Given the description of an element on the screen output the (x, y) to click on. 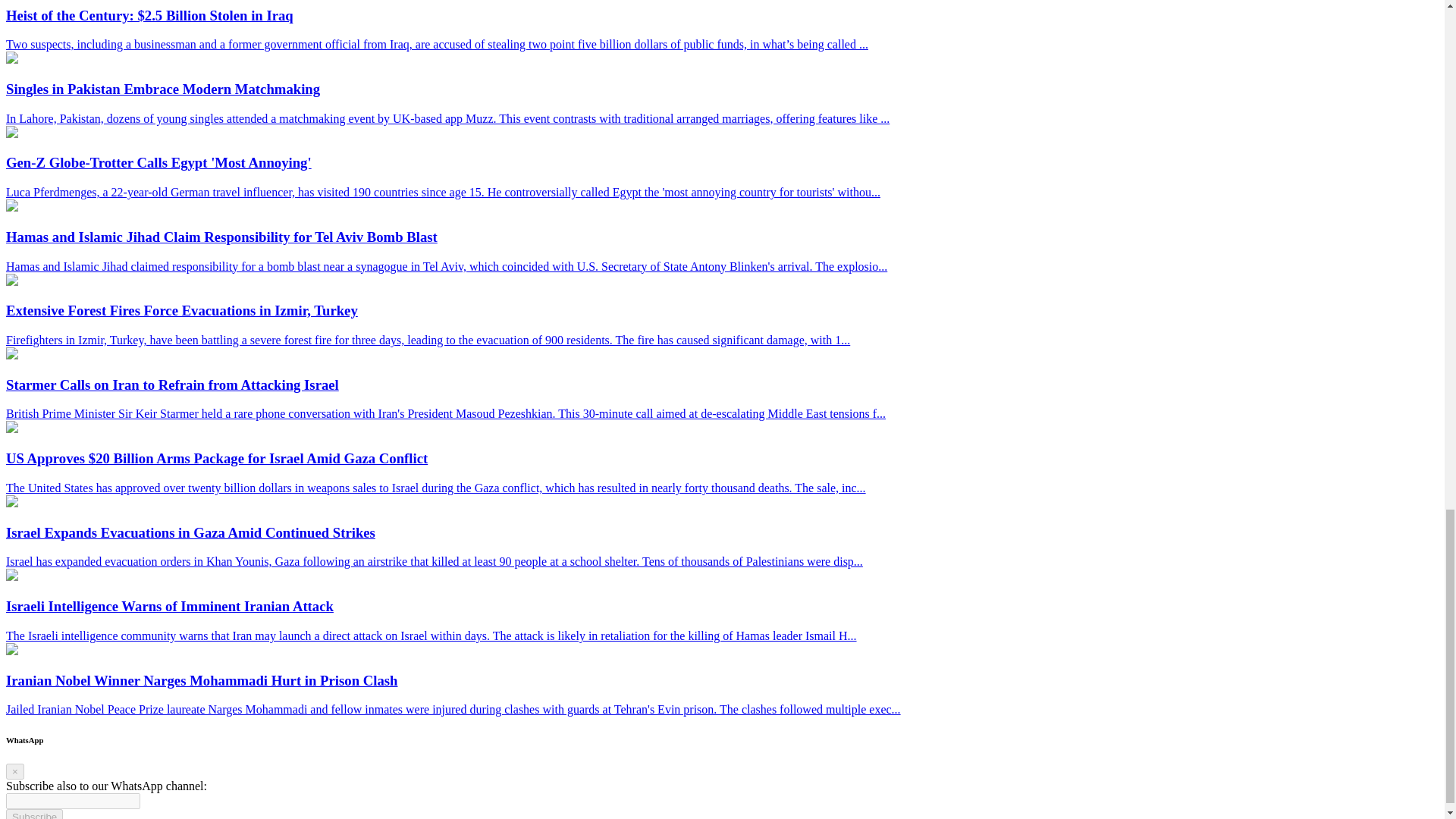
Starmer Calls on Iran to Refrain from Attacking Israel (11, 354)
Gen-Z Globe-Trotter Calls Egypt 'Most Annoying' (11, 133)
Singles in Pakistan Embrace Modern Matchmaking (11, 59)
Israel Expands Evacuations in Gaza Amid Continued Strikes (11, 502)
Extensive Forest Fires Force Evacuations in Izmir, Turkey (11, 281)
